Given the description of an element on the screen output the (x, y) to click on. 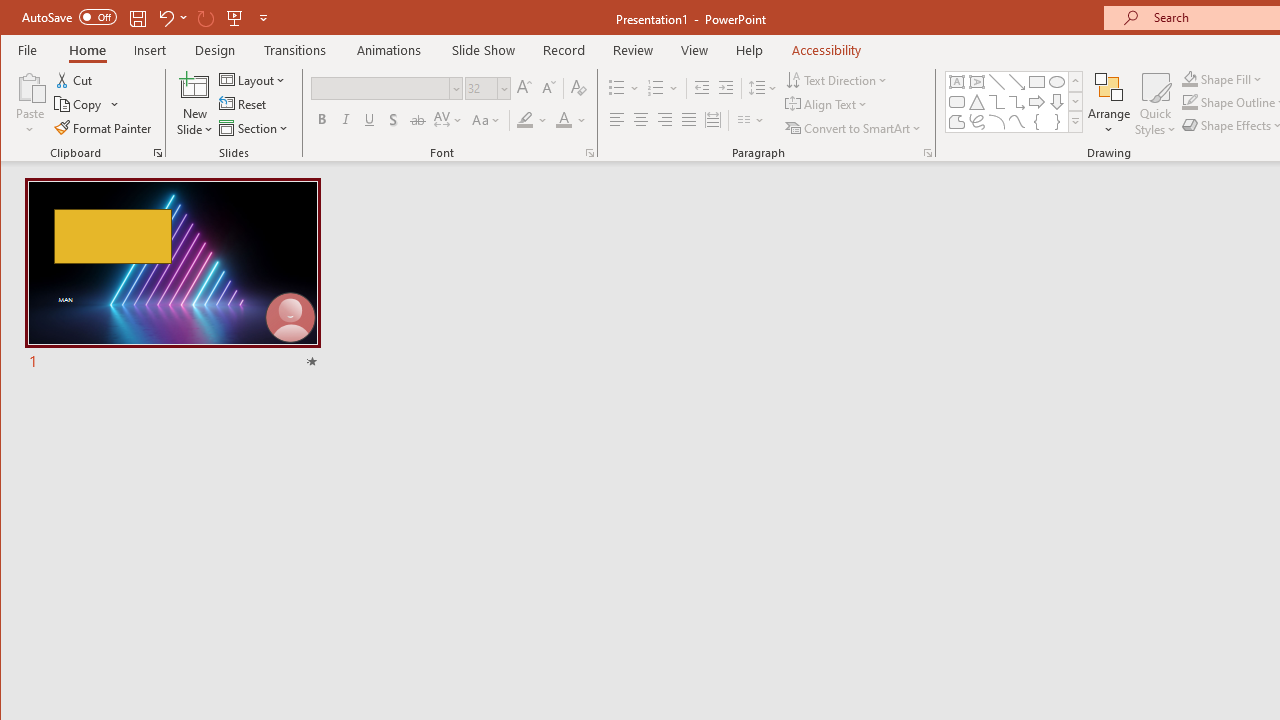
Line (996, 82)
Design (215, 50)
New Slide (195, 104)
Record (563, 50)
Align Left (616, 119)
Font... (589, 152)
AutoSave (68, 16)
Arrange (1108, 104)
Redo (206, 17)
Decrease Font Size (548, 88)
Increase Font Size (524, 88)
Paste (29, 104)
